Given the description of an element on the screen output the (x, y) to click on. 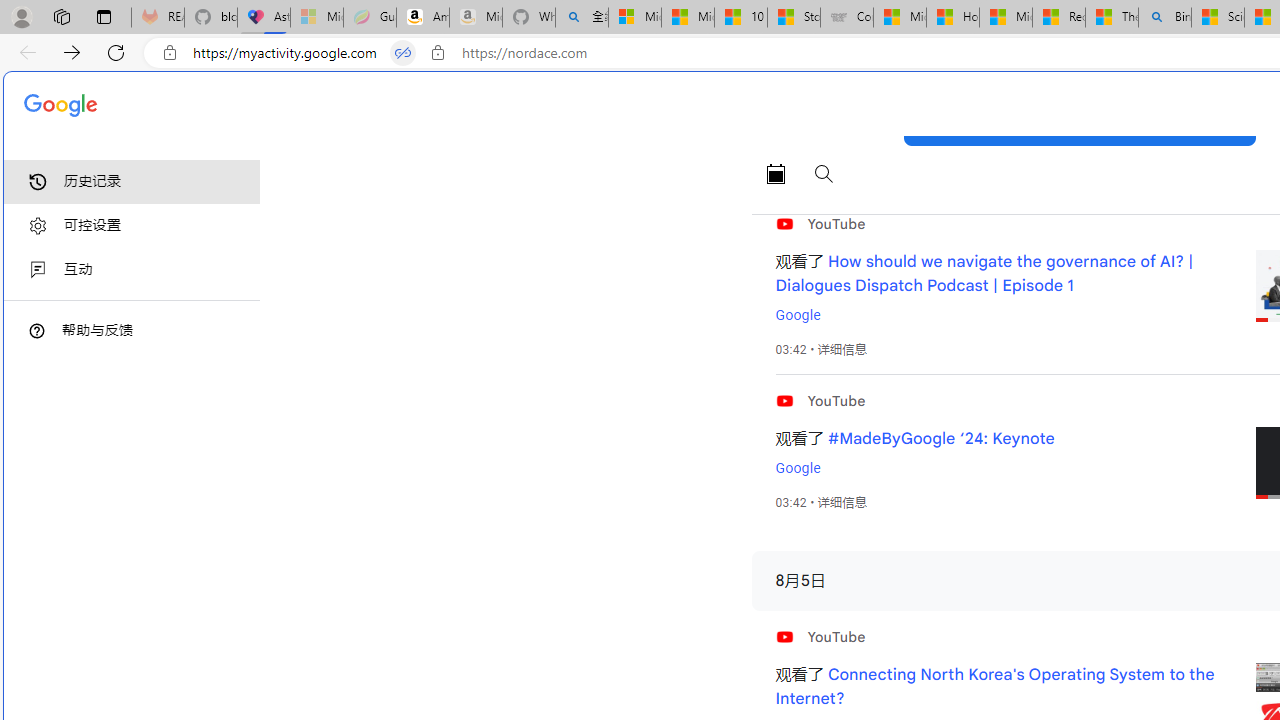
Tabs in split screen (403, 53)
Class: DTiKkd NMm5M (37, 330)
